Given the description of an element on the screen output the (x, y) to click on. 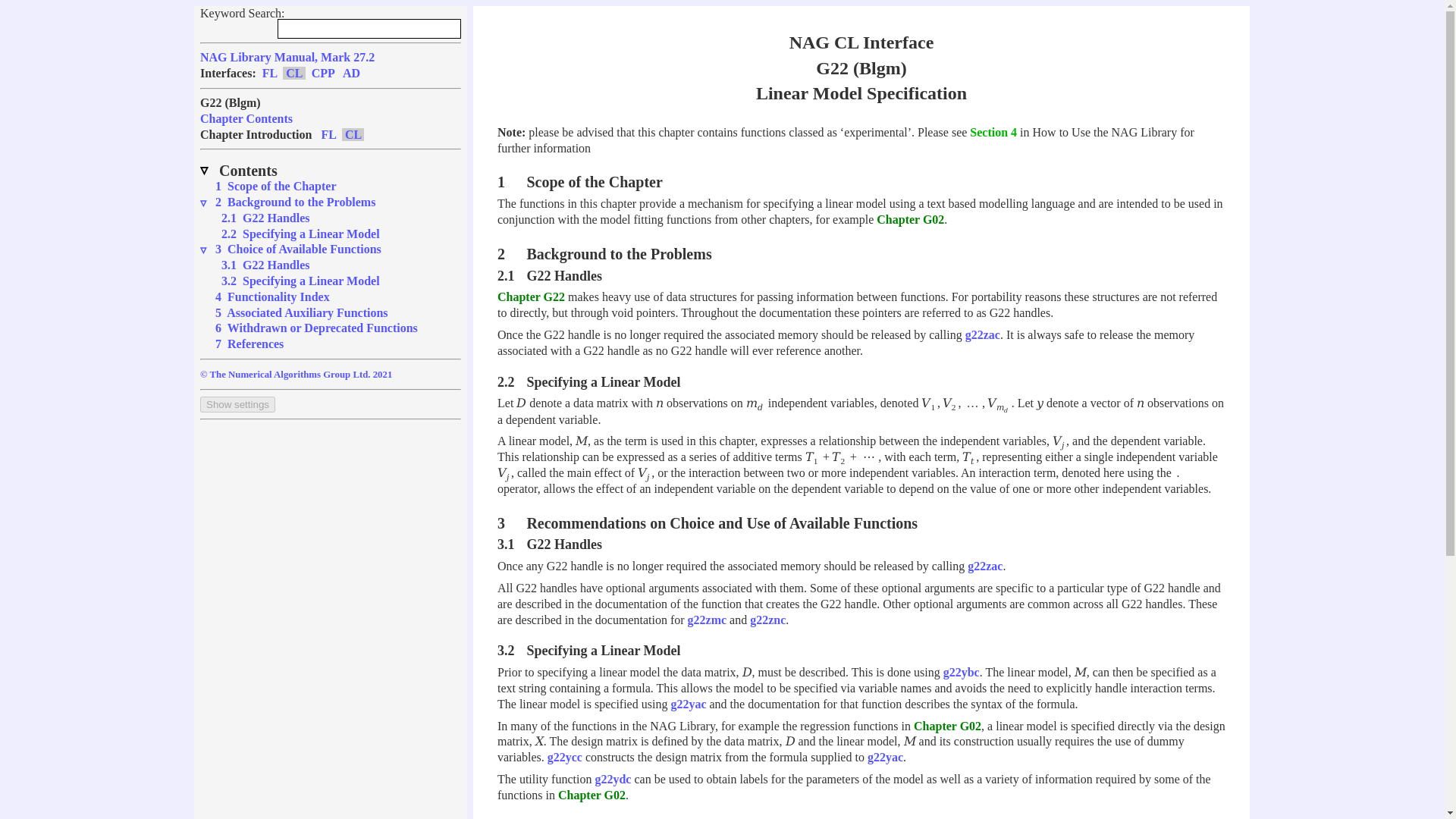
5  Associated Auxiliary Functions (301, 312)
 CL  (353, 133)
g22ycc (564, 757)
7  References (249, 343)
3.1  G22 Handles (264, 264)
Chapter G22 (530, 296)
3.2  Specifying a Linear Model (300, 280)
2  Background to the Problems (295, 201)
NAG Library Manual, Mark 27.2 (287, 56)
4  Functionality Index (272, 296)
g22zmc (706, 619)
Chapter Contents (246, 118)
2.1  G22 Handles (264, 217)
3  Choice of Available Functions (298, 248)
 FL  (270, 72)
